Given the description of an element on the screen output the (x, y) to click on. 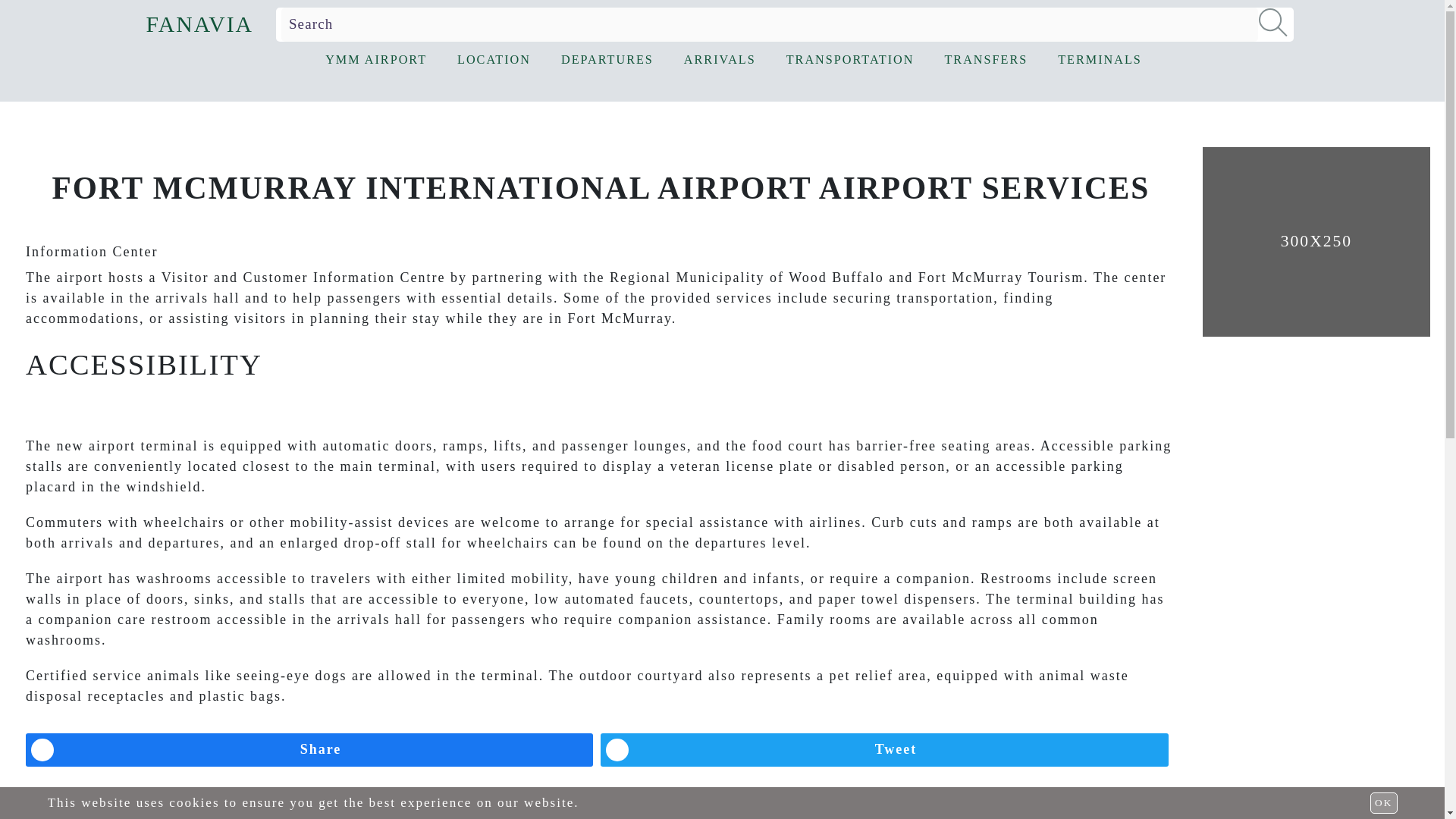
OK (1383, 803)
TRANSPORTATION (849, 60)
FANAVIA (199, 24)
YMM AIRPORT (375, 60)
TERMINALS (1099, 60)
LOCATION (493, 60)
TRANSFERS (985, 60)
Share (309, 749)
Tweet (884, 749)
DEPARTURES (607, 60)
ARRIVALS (719, 60)
